Given the description of an element on the screen output the (x, y) to click on. 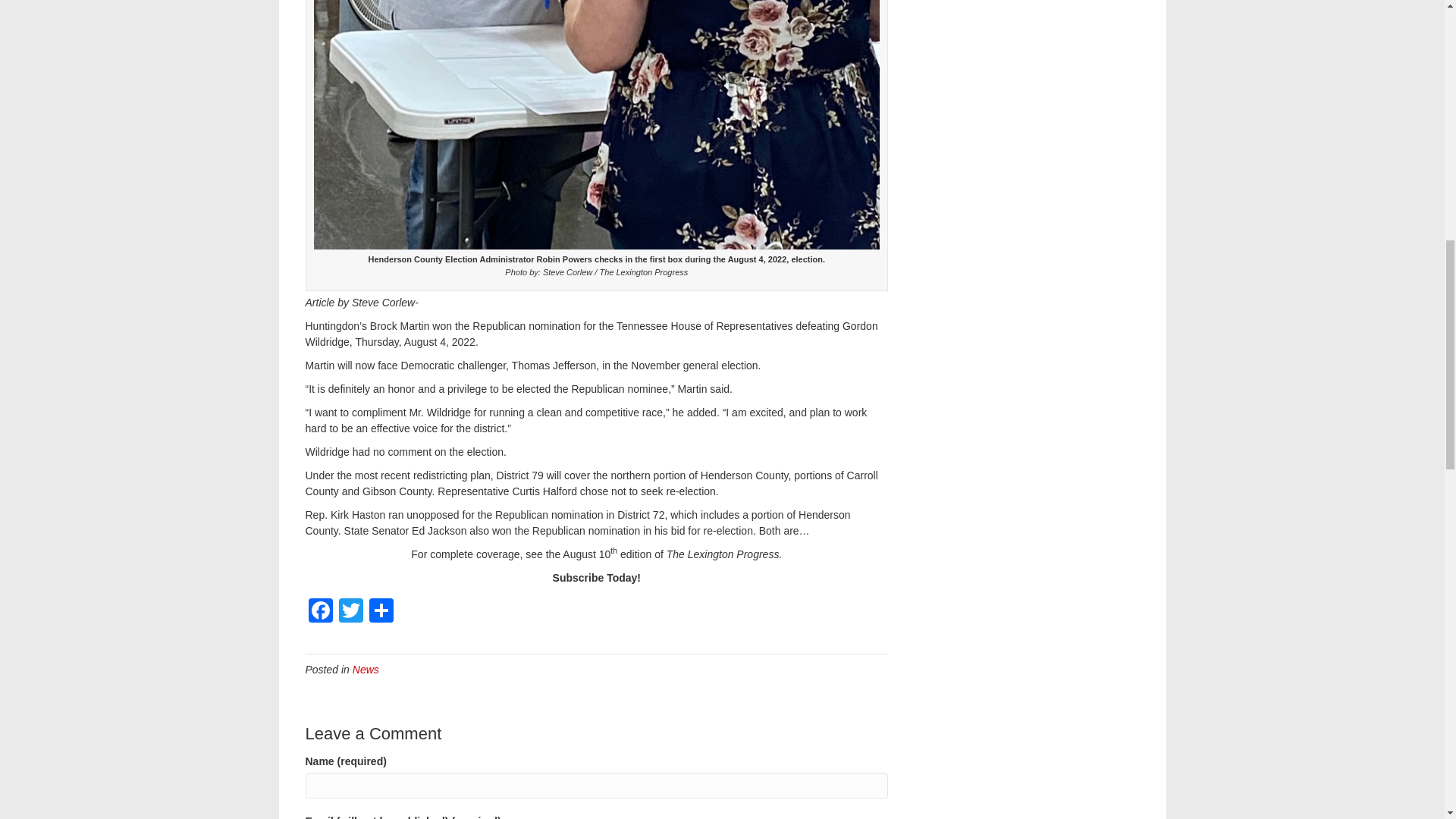
Facebook (319, 612)
Twitter (349, 612)
Facebook (319, 612)
Twitter (349, 612)
Share (380, 612)
